Given the description of an element on the screen output the (x, y) to click on. 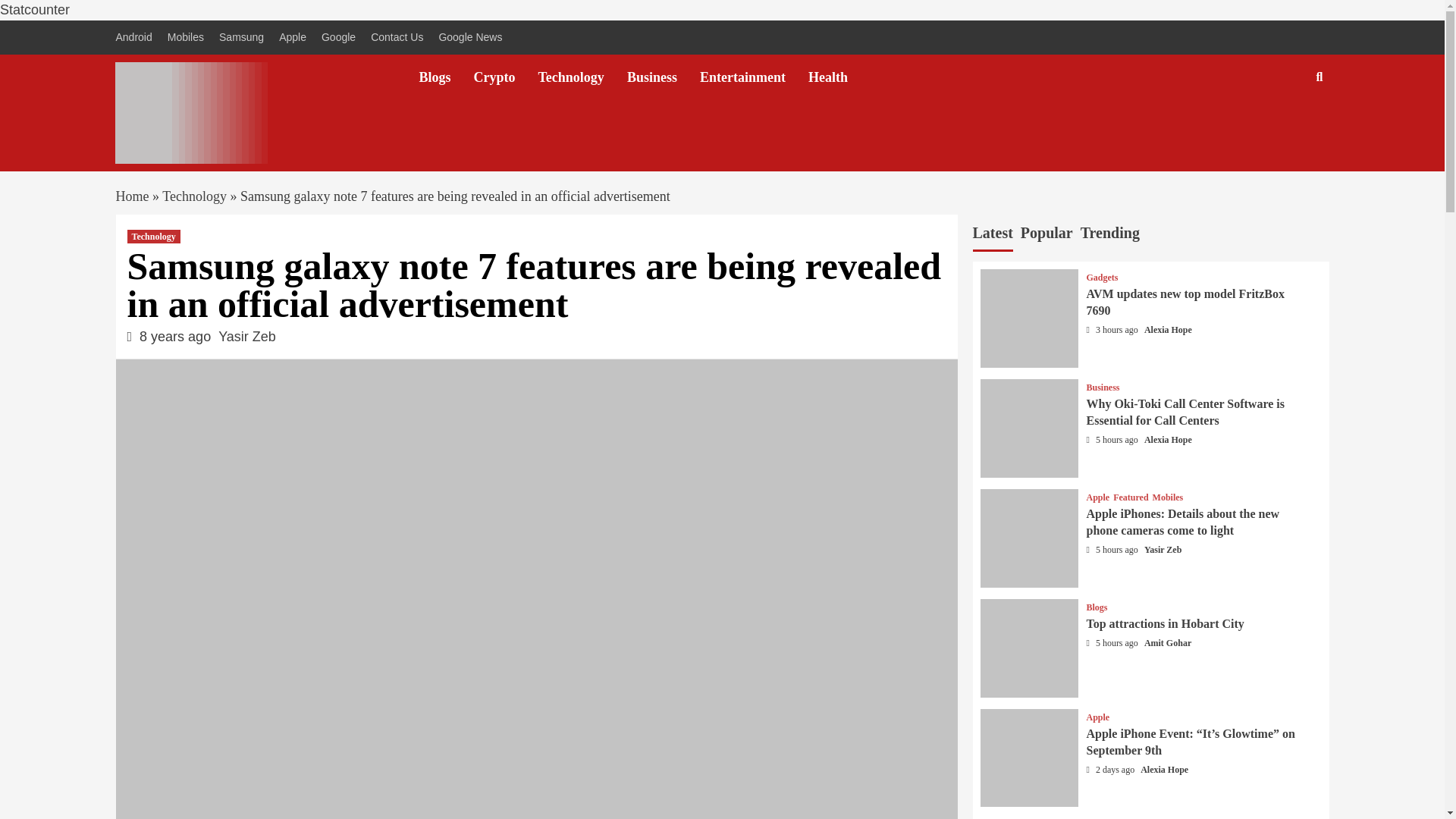
Statcounter (34, 9)
Technology (194, 196)
Search (1283, 125)
Technology (582, 77)
Contact Us (396, 37)
Blogs (446, 77)
Samsung (240, 37)
Business (663, 77)
Google (338, 37)
Entertainment (754, 77)
